Given the description of an element on the screen output the (x, y) to click on. 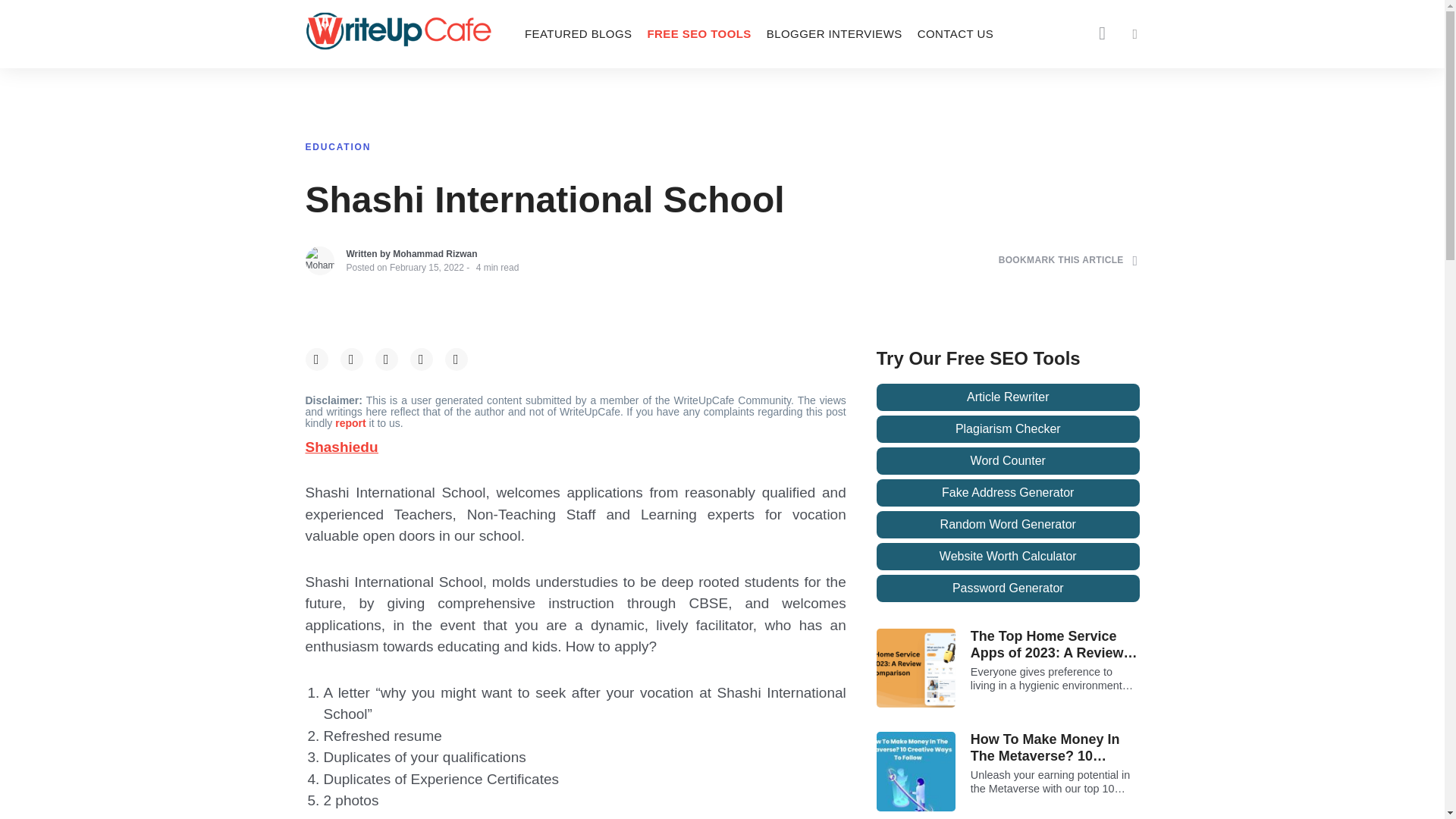
BOOKMARK THIS ARTICLE (1068, 260)
Article Rewriter (1008, 397)
Mohammad Rizwan (435, 253)
CONTACT US (955, 33)
Random Word Generator (1008, 524)
Shashiedu (340, 446)
FREE SEO TOOLS (698, 33)
CONTACT US (955, 33)
Password Generator (1008, 587)
